Given the description of an element on the screen output the (x, y) to click on. 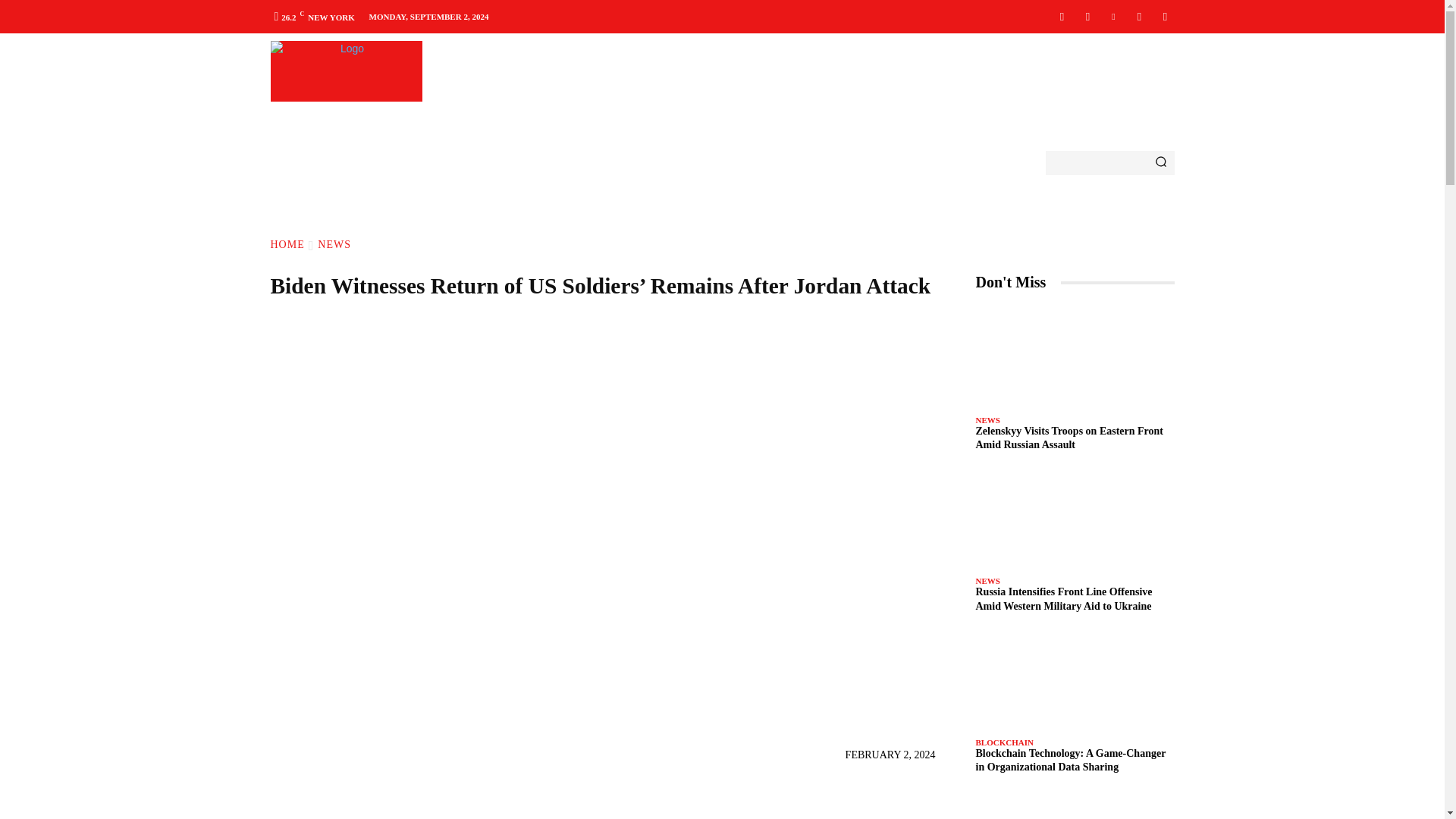
Linkedin (1112, 16)
HOME (286, 244)
NEWS (333, 244)
Instagram (1087, 16)
Twitter (1164, 16)
Facebook (1061, 16)
Reddit (1138, 16)
View all posts in News (333, 244)
